Given the description of an element on the screen output the (x, y) to click on. 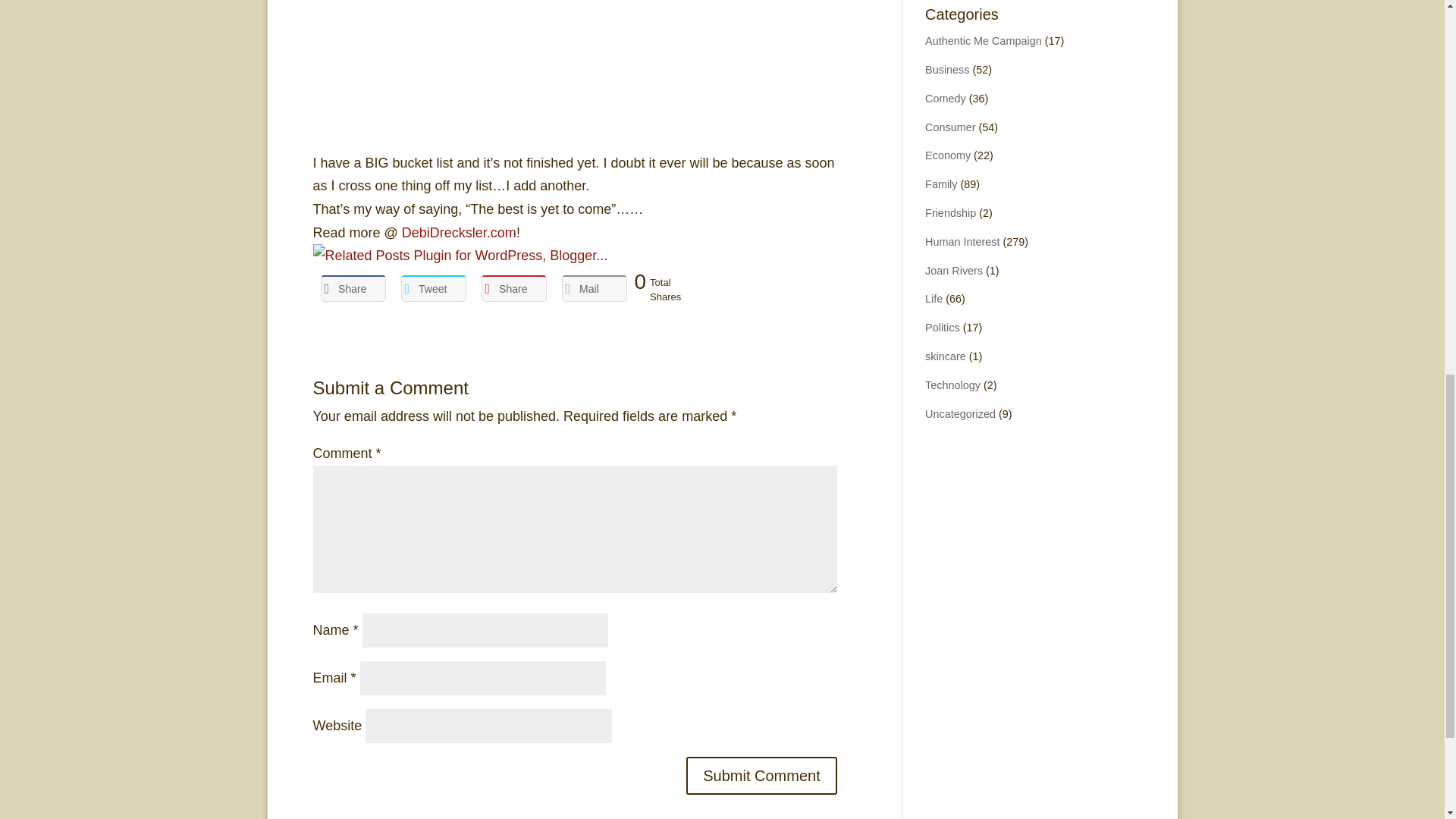
Business (946, 69)
Share on Facebook (352, 288)
Mail (593, 288)
Submit Comment (761, 775)
Share (352, 288)
DebiDrecksler.com (458, 232)
Comedy (945, 98)
Share on Twitter (432, 288)
Authentic Me Campaign (983, 40)
Submit Comment (761, 775)
